Given the description of an element on the screen output the (x, y) to click on. 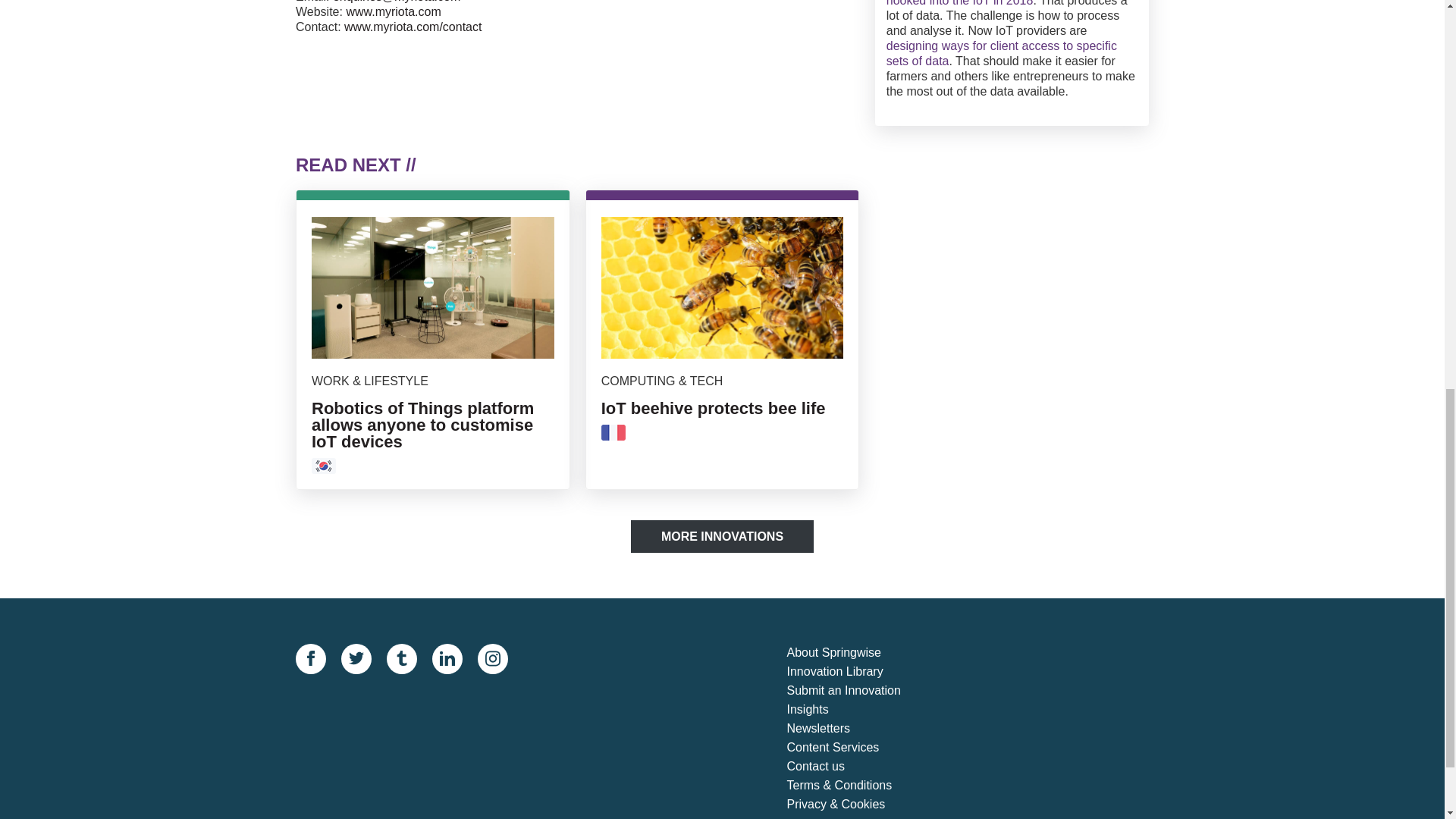
Insights (856, 710)
Content Services (856, 747)
MORE INNOVATIONS (721, 536)
Contact us (856, 766)
23 billion devices were hooked into the IoT in 2018 (1005, 3)
designing ways for client access to specific sets of data (1001, 53)
About Springwise (856, 652)
www.myriota.com (393, 11)
Newsletters (856, 728)
Innovation Library (856, 671)
